Given the description of an element on the screen output the (x, y) to click on. 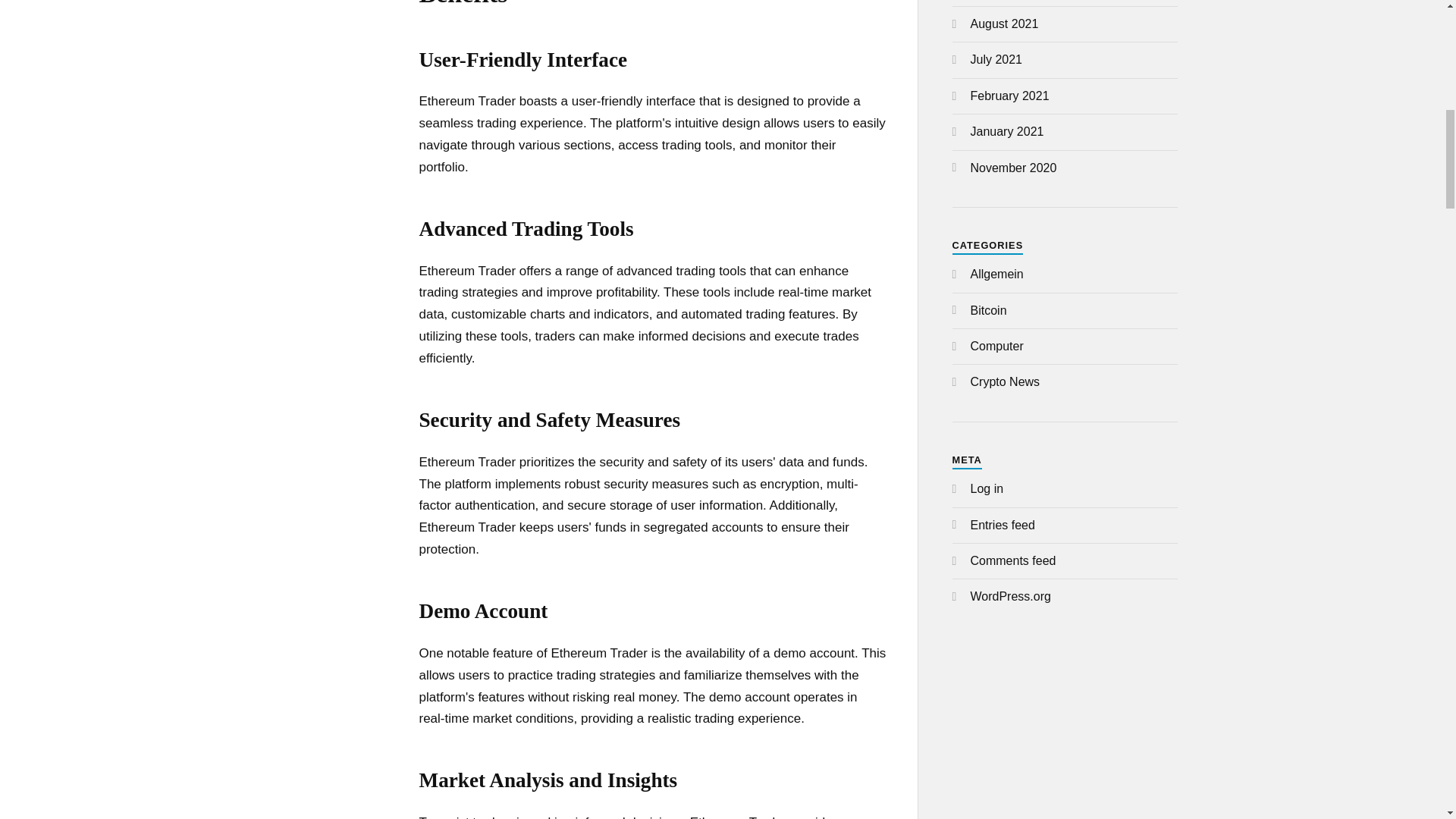
January 2021 (1007, 131)
August 2021 (1005, 23)
Allgemein (997, 273)
February 2021 (1010, 95)
November 2020 (1014, 167)
Bitcoin (989, 309)
Computer (997, 345)
July 2021 (997, 59)
